Given the description of an element on the screen output the (x, y) to click on. 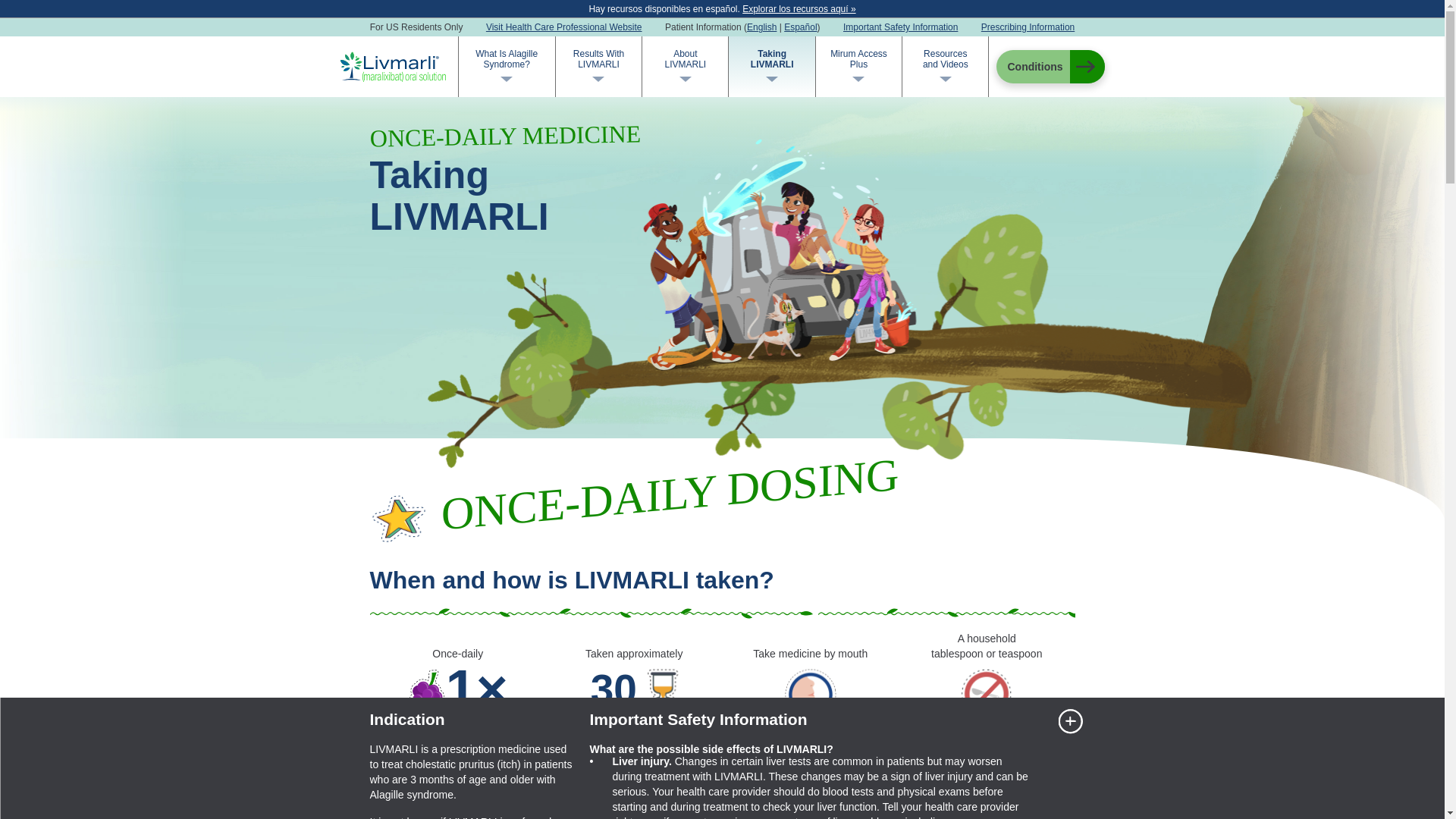
What Is Alagille Syndrome? (945, 59)
Visit Health Care Professional Website (684, 59)
Prescribing Information (507, 59)
English (857, 59)
Important Safety Information (564, 27)
Results With LIVMARLI (1027, 27)
